Given the description of an element on the screen output the (x, y) to click on. 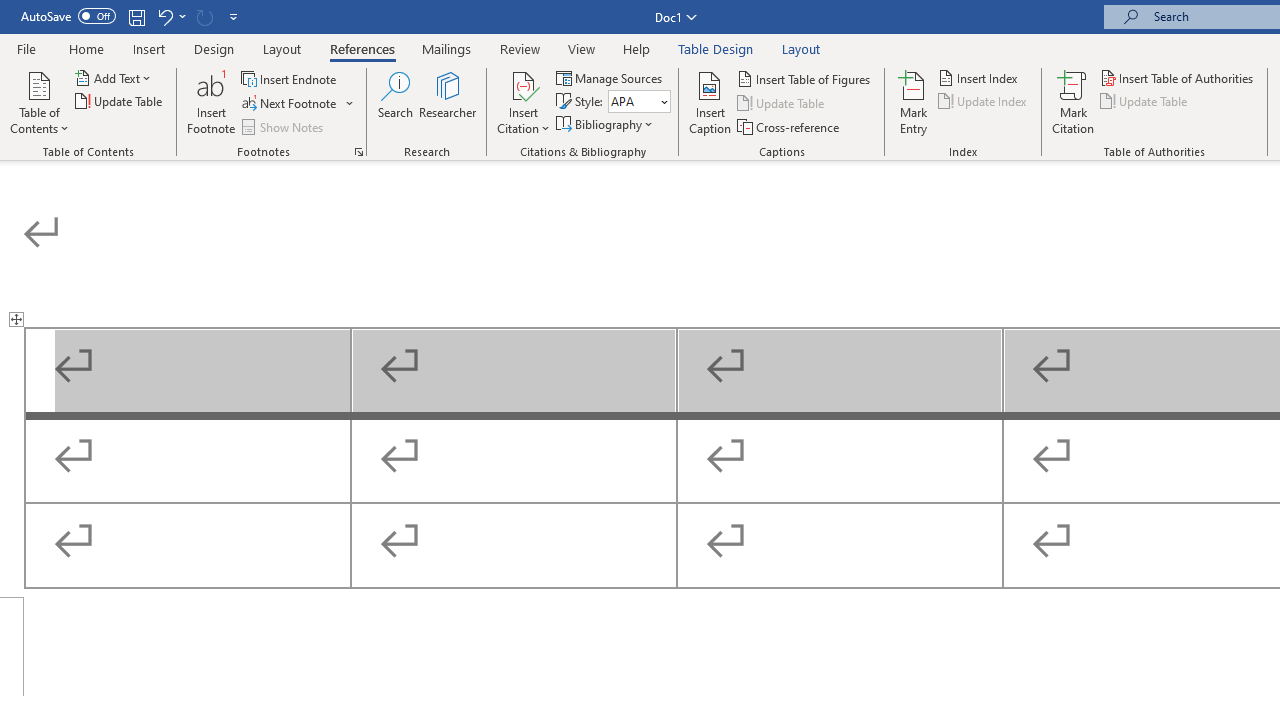
Insert Table of Authorities... (1177, 78)
Next Footnote (298, 103)
Insert Endnote (290, 78)
Footnote and Endnote Dialog... (358, 151)
Insert Table of Figures... (804, 78)
Cross-reference... (789, 126)
Insert Citation (523, 102)
